Given the description of an element on the screen output the (x, y) to click on. 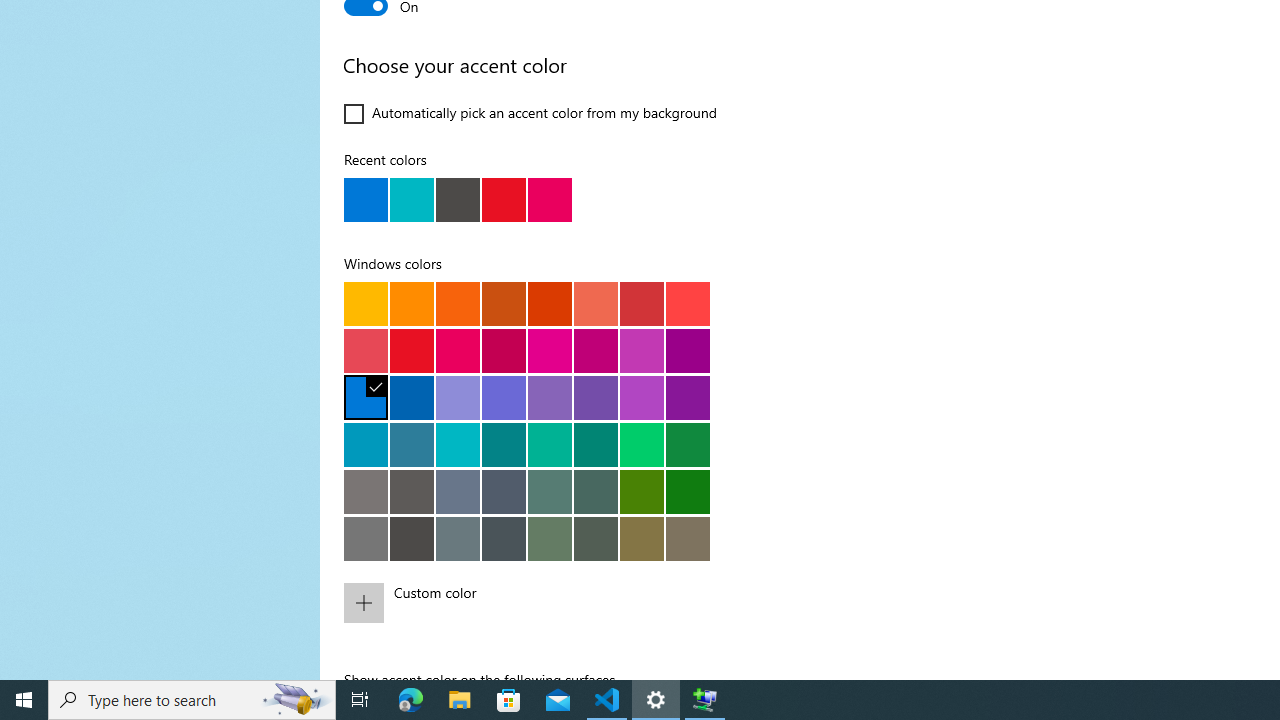
Green (687, 491)
Violet red light (641, 397)
Gray brown (411, 491)
Pale red (365, 350)
Turf green (641, 444)
Blue gray (458, 538)
Navy blue (411, 397)
Gray dark (504, 538)
Camouflage (687, 538)
Gold (411, 303)
Violet red (687, 397)
Orchid light (641, 350)
